Given the description of an element on the screen output the (x, y) to click on. 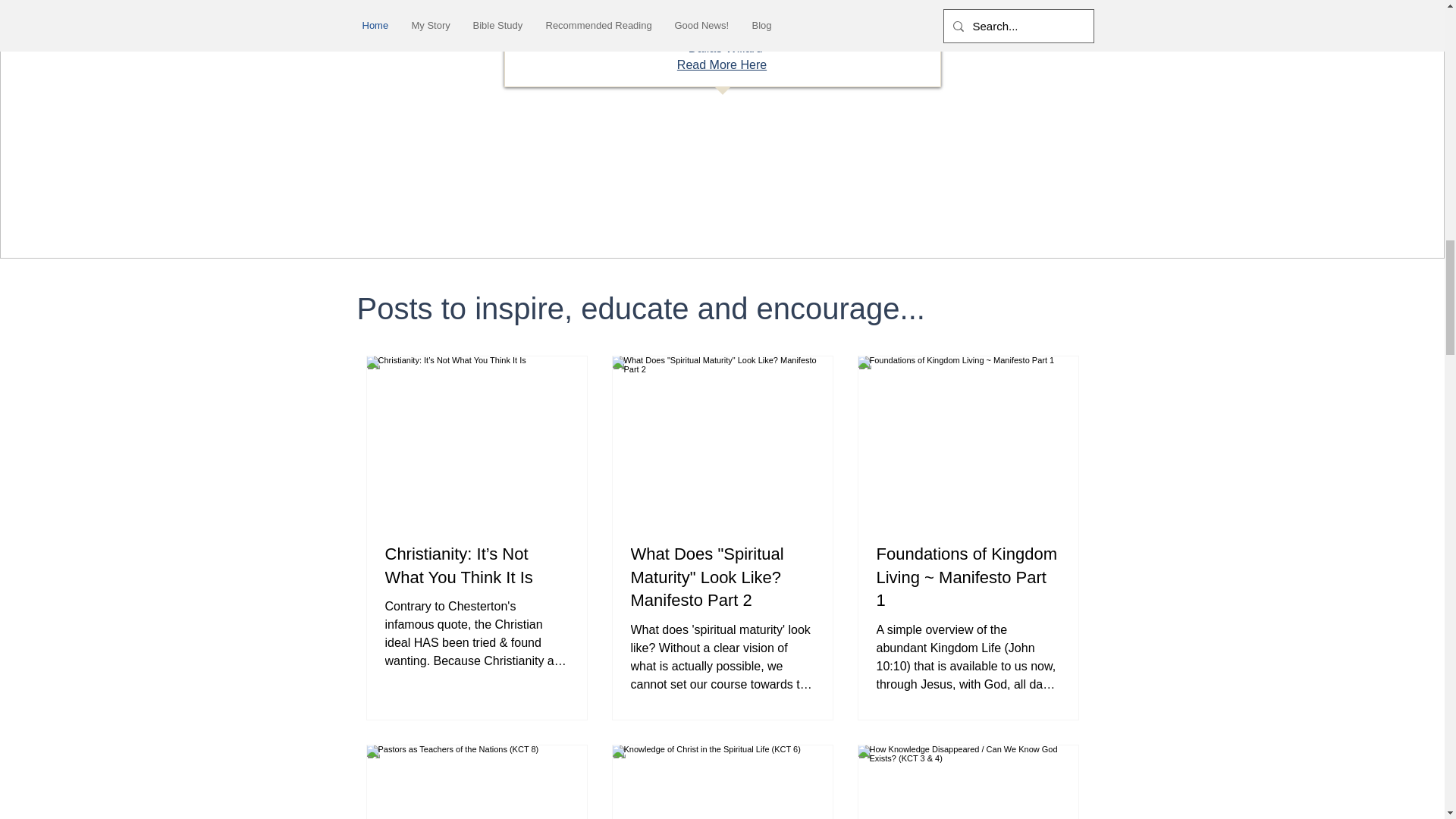
Read More Here (722, 72)
What Does "Spiritual Maturity" Look Like? Manifesto Part 2 (721, 577)
